Given the description of an element on the screen output the (x, y) to click on. 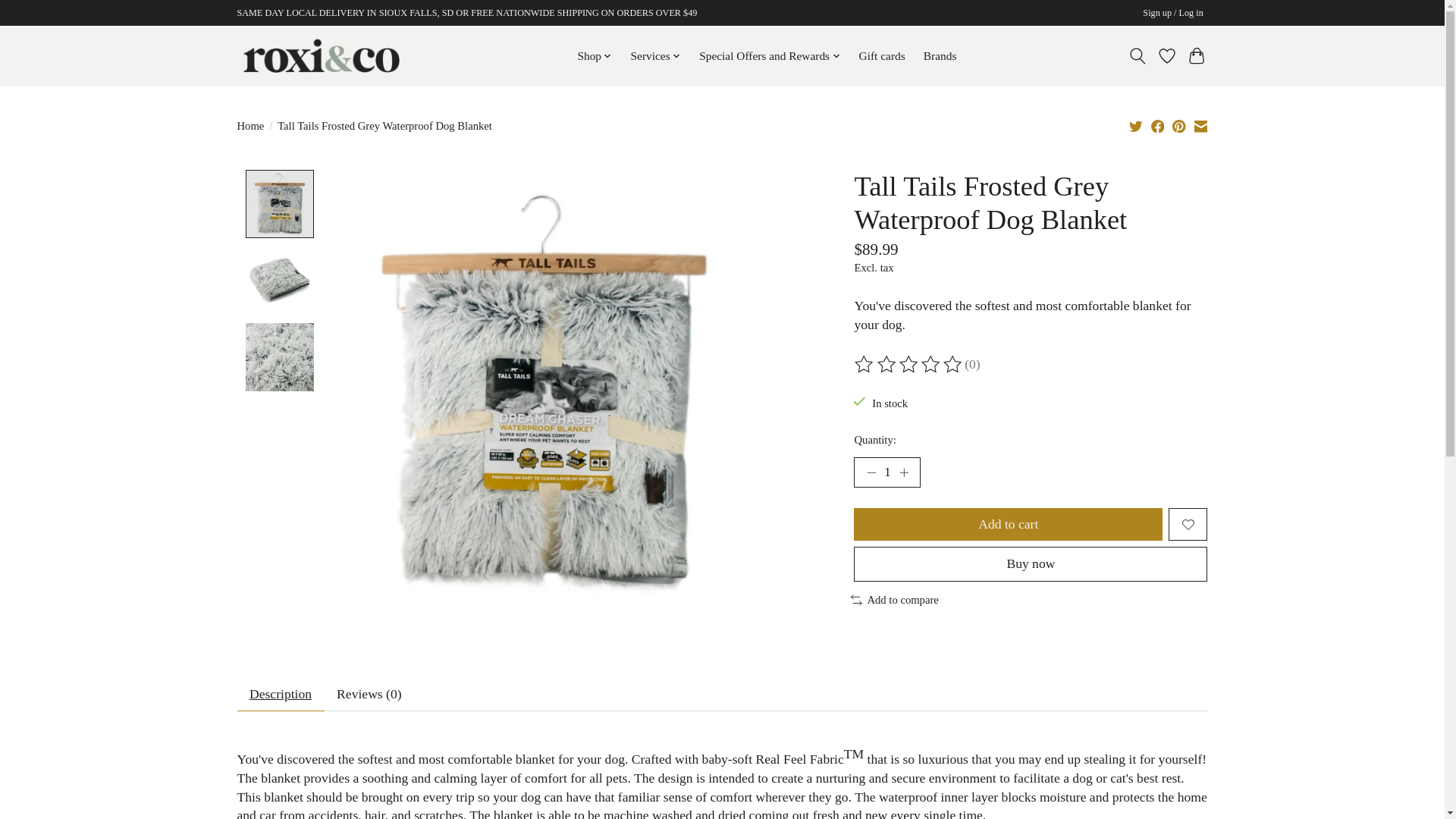
Share on Twitter (1135, 126)
My account (1173, 13)
Share on Facebook (1157, 126)
Share by Email (1200, 126)
Share on Pinterest (1178, 126)
Shop (594, 55)
1 (886, 472)
Services (654, 55)
